Given the description of an element on the screen output the (x, y) to click on. 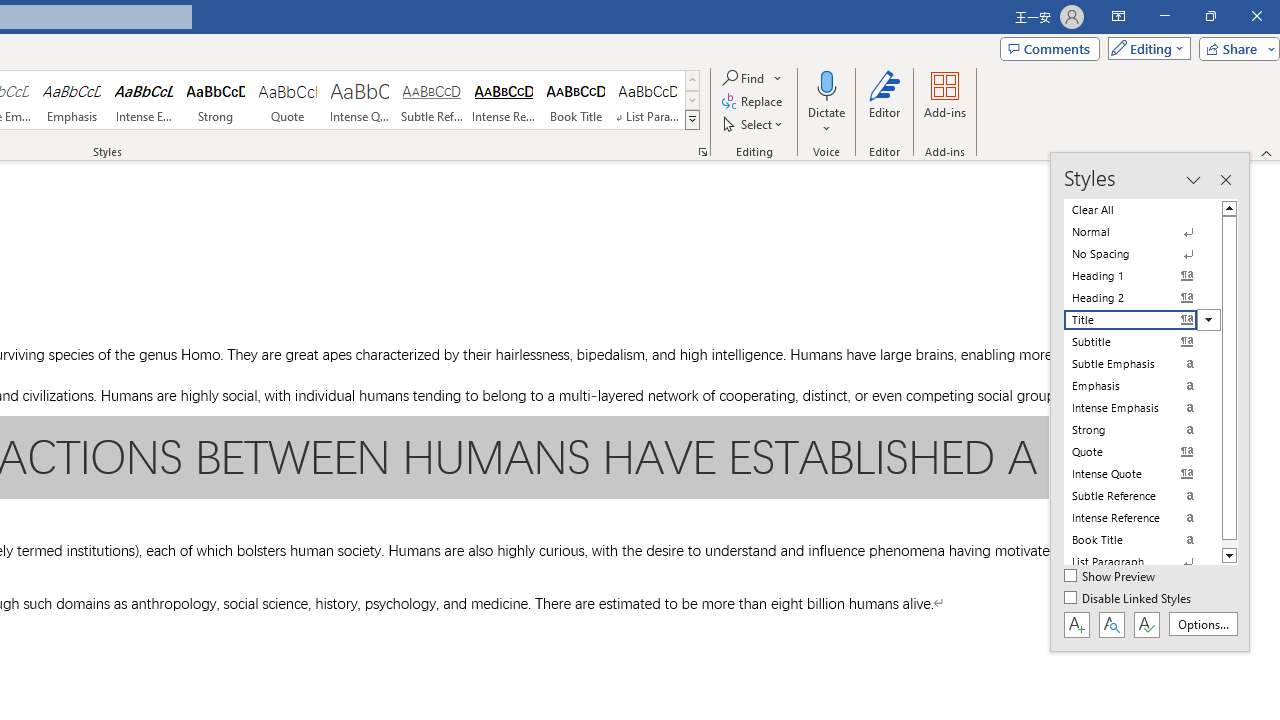
Heading 1 (1142, 275)
Normal (1142, 232)
Intense Reference (504, 100)
Disable Linked Styles (1129, 599)
Book Title (575, 100)
Emphasis (71, 100)
No Spacing (1142, 253)
